Given the description of an element on the screen output the (x, y) to click on. 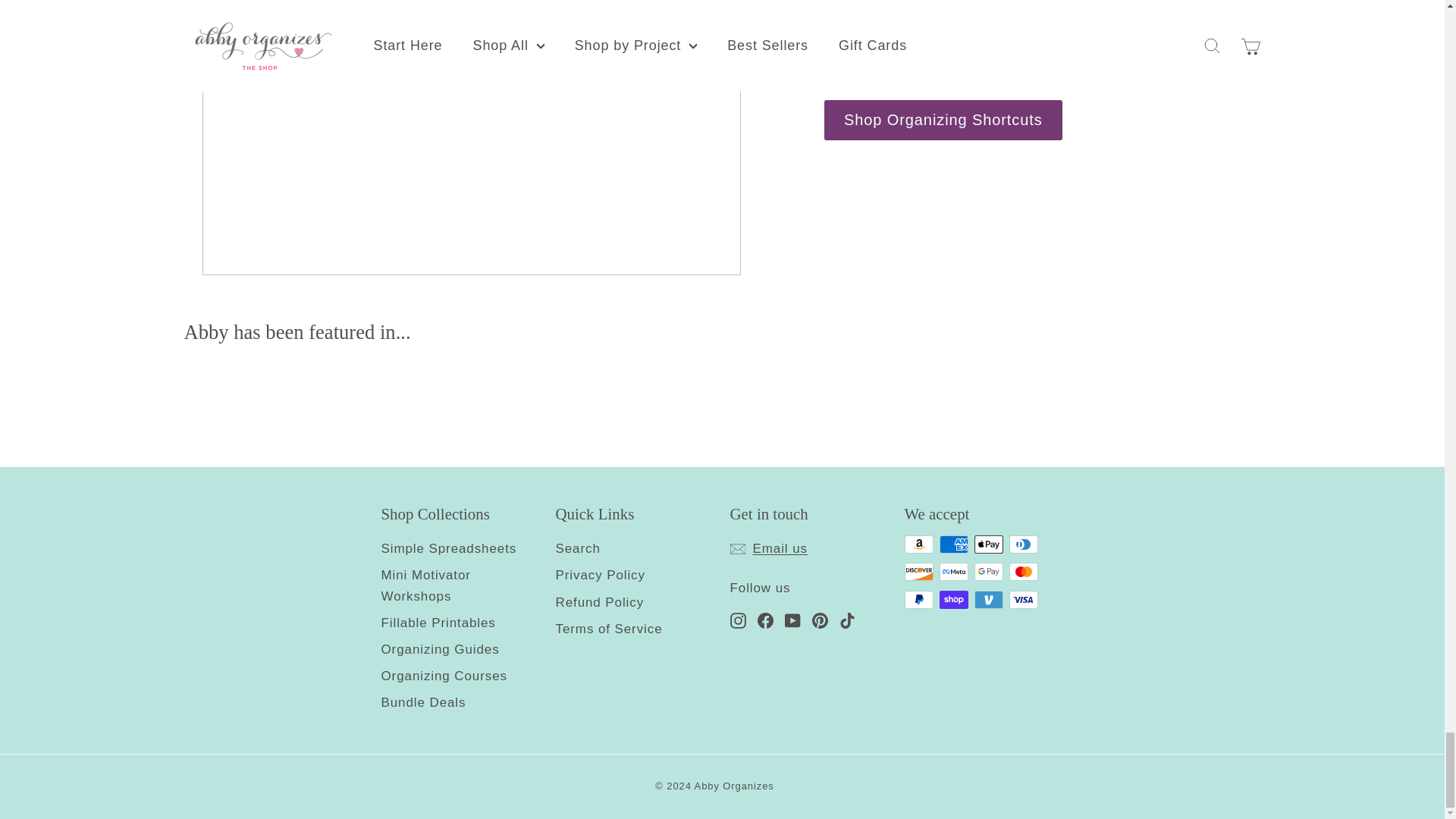
Mastercard (1022, 571)
instagram (737, 620)
Amazon (918, 544)
Discover (918, 571)
Meta Pay (953, 571)
Google Pay (988, 571)
Shop Pay (953, 598)
Diners Club (1022, 544)
American Express (953, 544)
PayPal (918, 598)
Apple Pay (988, 544)
